Given the description of an element on the screen output the (x, y) to click on. 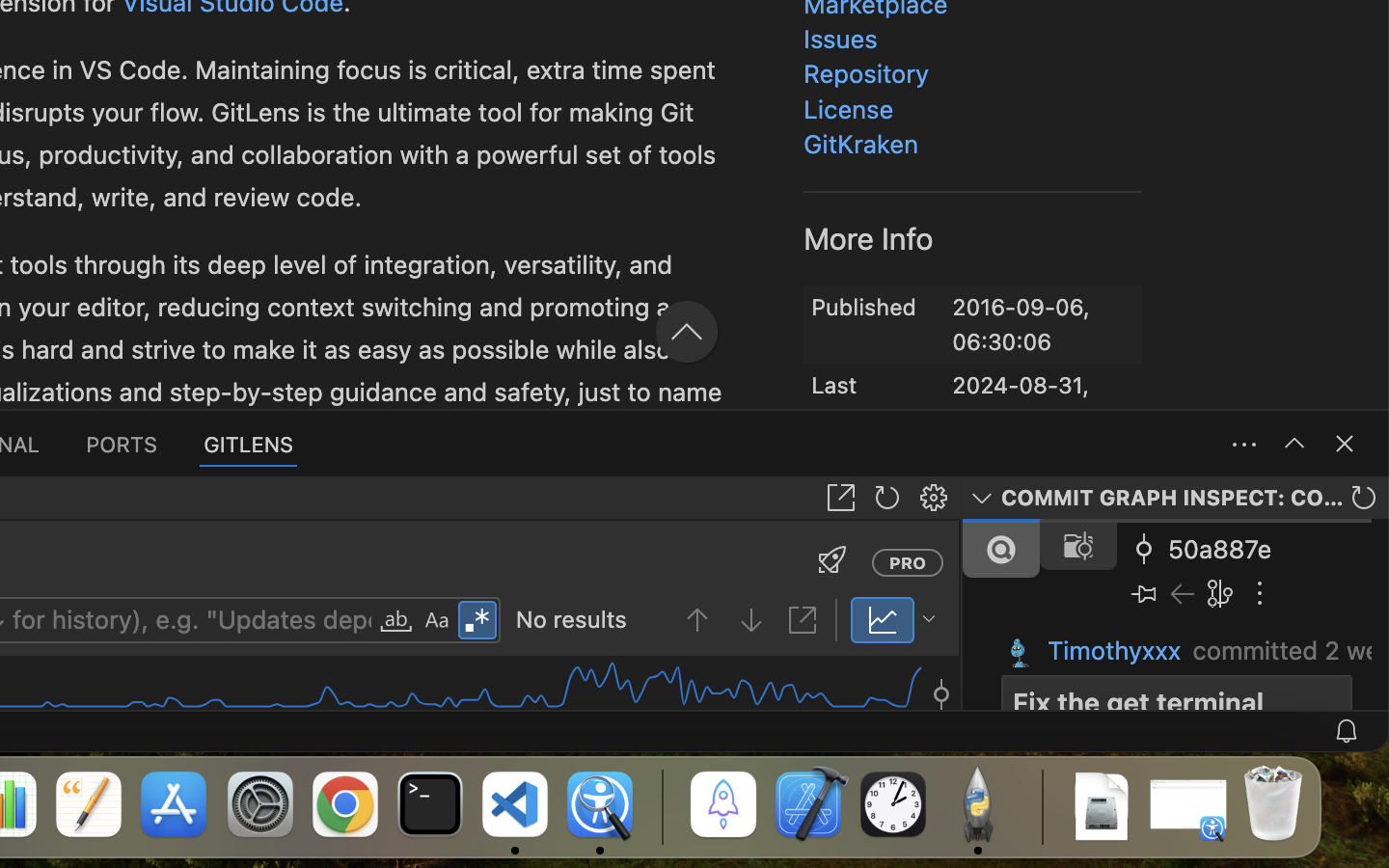
Pro Element type: AXGroup (907, 561)
1 GITLENS Element type: AXRadioButton (249, 443)
Issues Element type: AXStaticText (840, 38)
return Element type: AXStaticText (47, 351)
0.4285714328289032 Element type: AXDockItem (660, 805)
